Given the description of an element on the screen output the (x, y) to click on. 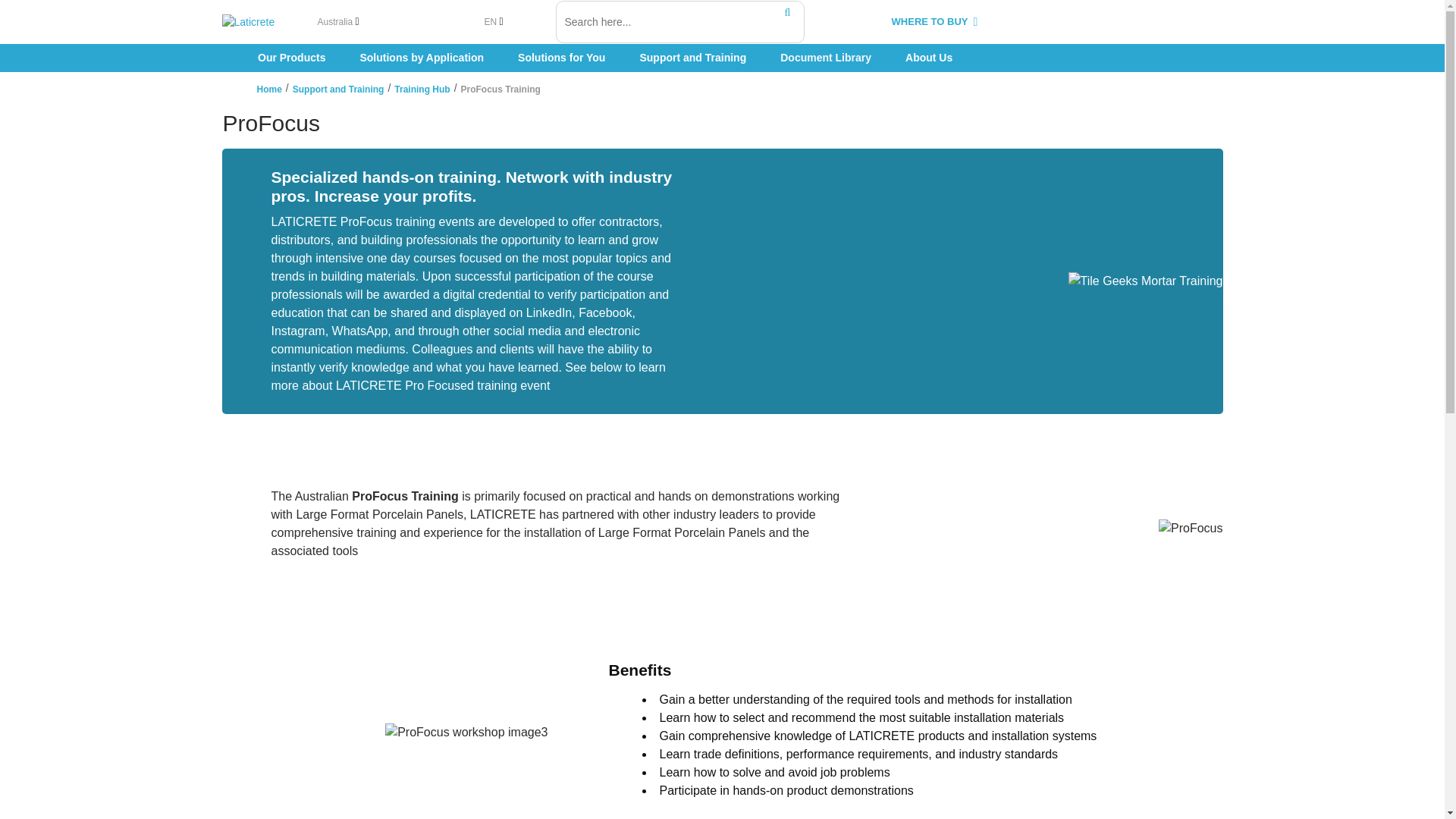
Support and Training (338, 89)
ProFocus (722, 123)
ProFocus Training (500, 89)
Laticrete Logo (262, 22)
Training Hub (421, 89)
Home (268, 89)
